Given the description of an element on the screen output the (x, y) to click on. 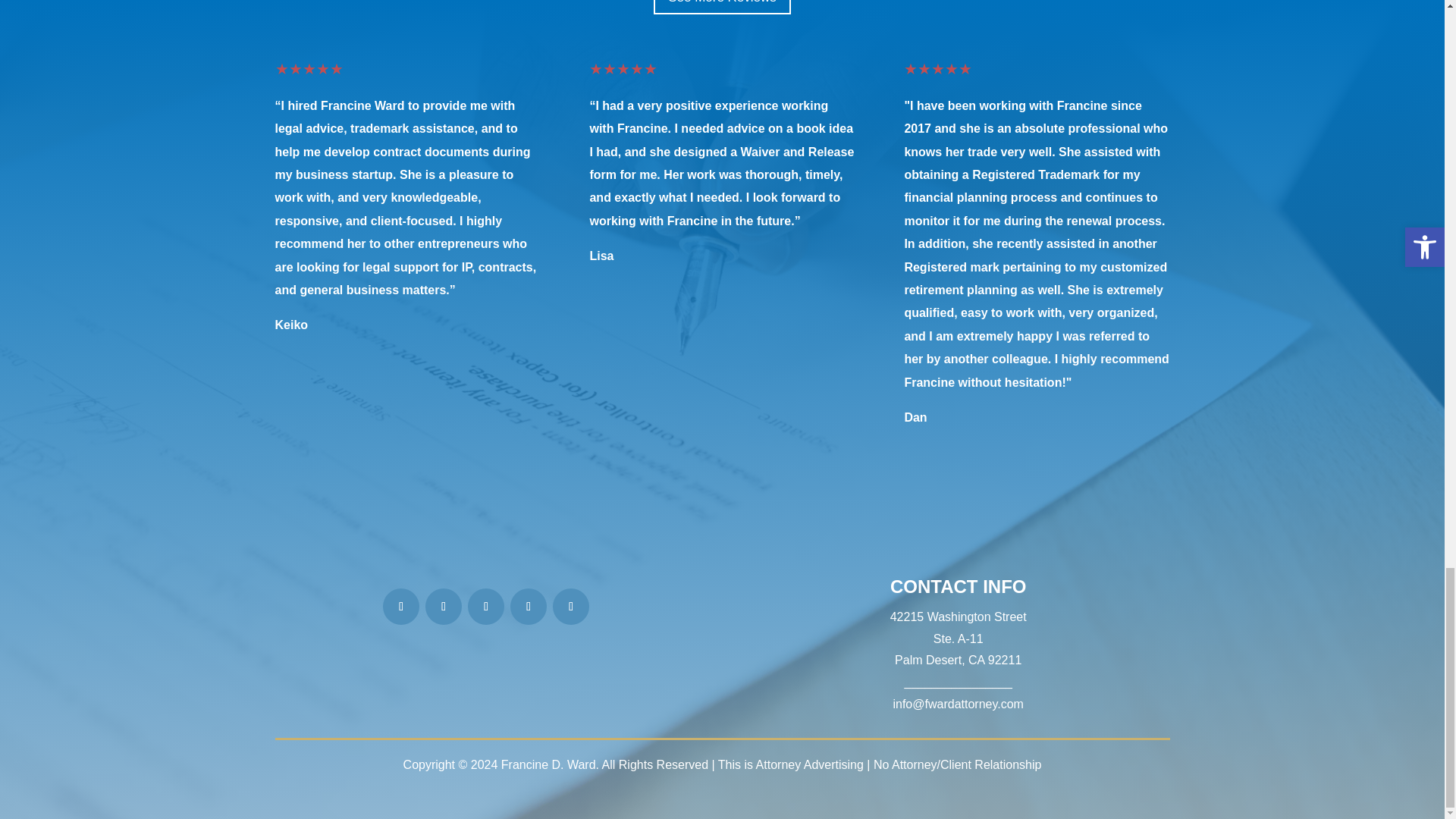
Follow on X (571, 606)
Follow on Youtube (529, 606)
Follow on LinkedIn (485, 606)
Follow on Instagram (443, 606)
Follow on Facebook (400, 606)
